Given the description of an element on the screen output the (x, y) to click on. 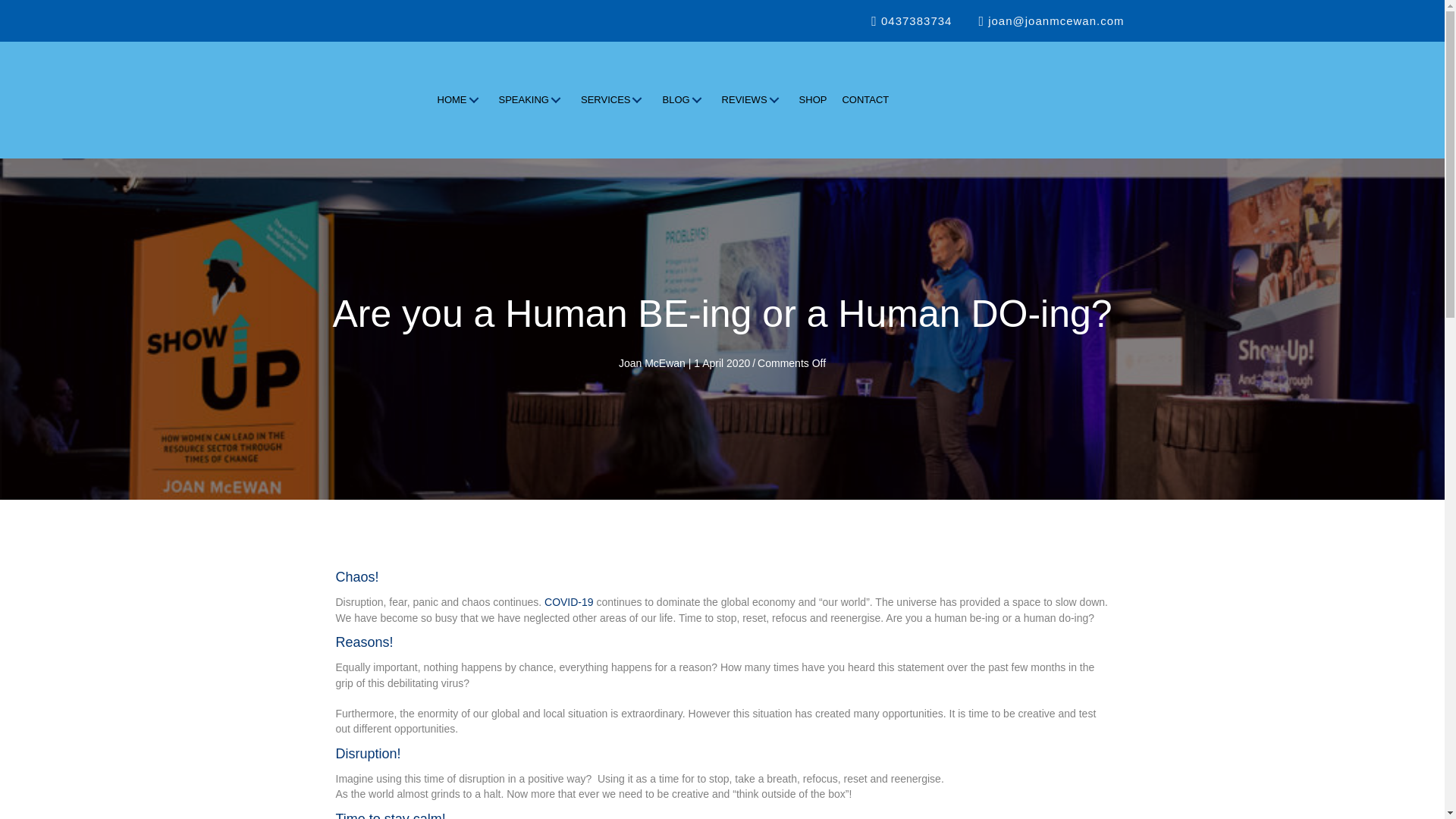
CONTACT (865, 100)
BLOG (683, 100)
SHOP (812, 100)
REVIEWS (753, 100)
0437383734 (909, 20)
HOME (459, 100)
SPEAKING (532, 100)
SERVICES (614, 100)
